Given the description of an element on the screen output the (x, y) to click on. 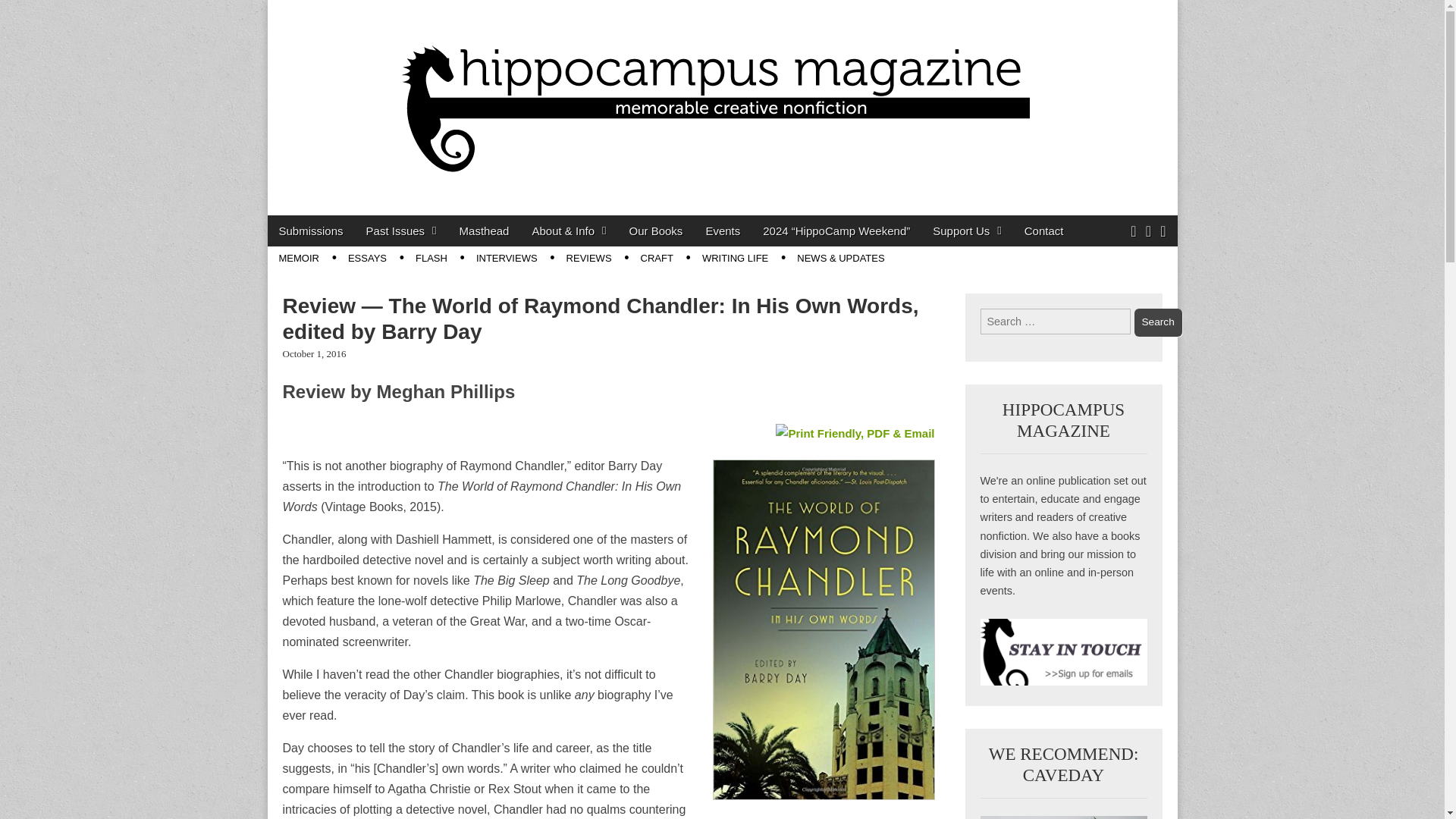
Search (1158, 321)
Hippocampus Magazine (459, 232)
Hippocampus Magazine (459, 232)
Submissions (309, 230)
Search (1158, 321)
Past Issues (401, 230)
